Given the description of an element on the screen output the (x, y) to click on. 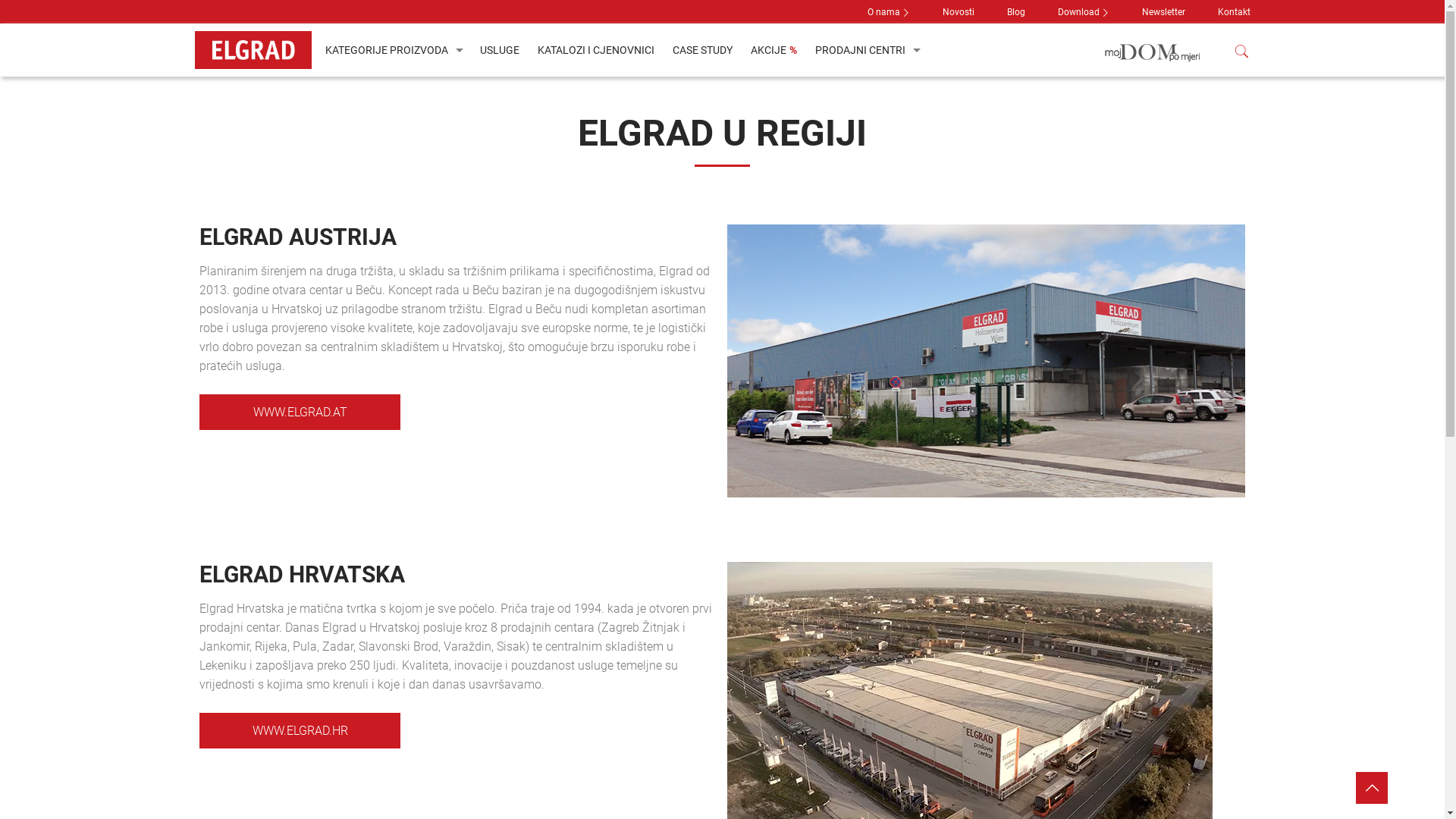
Kontakt Element type: text (1233, 11)
Elgrad Element type: hover (254, 49)
AKCIJE Element type: text (773, 49)
Newsletter Element type: text (1163, 11)
USLUGE Element type: text (498, 49)
CASE STUDY Element type: text (701, 49)
Download Element type: text (1077, 11)
WWW.ELGRAD.AT Element type: text (299, 411)
Blog Element type: text (1016, 11)
KATALOZI I CJENOVNICI Element type: text (594, 49)
KATEGORIJE PROIZVODA Element type: text (392, 49)
PRODAJNI CENTRI Element type: text (866, 49)
elgrad-austija Element type: hover (985, 360)
Novosti Element type: text (957, 11)
O nama Element type: text (883, 11)
WWW.ELGRAD.HR Element type: text (299, 730)
